Given the description of an element on the screen output the (x, y) to click on. 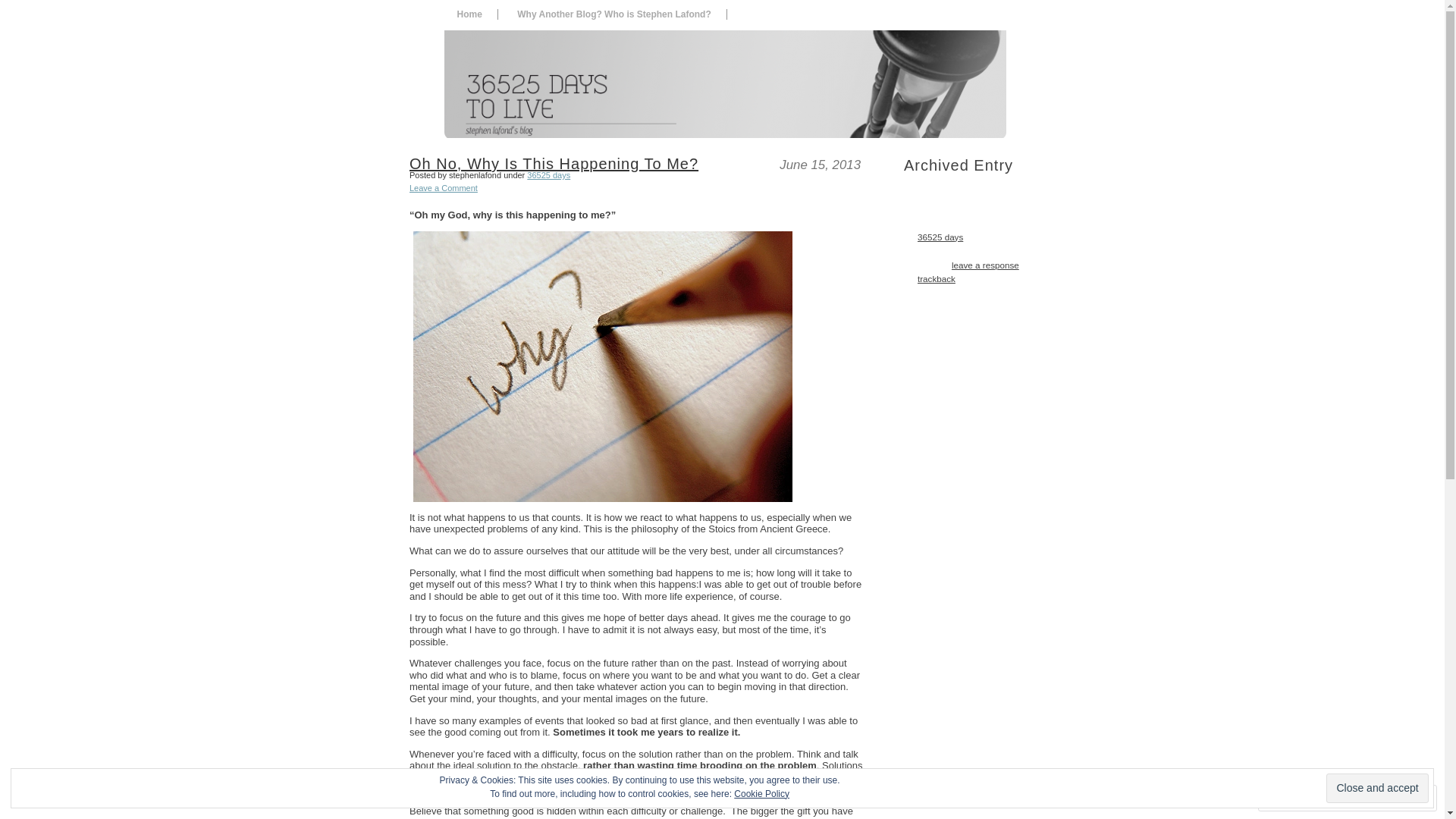
trackback Element type: text (936, 278)
Home Element type: text (468, 14)
Why Another Blog? Who is Stephen Lafond? Element type: text (614, 14)
leave a response Element type: text (985, 264)
Close and accept Element type: text (1376, 788)
Comment Element type: text (1299, 797)
Cookie Policy Element type: text (761, 793)
36525 days Element type: text (548, 174)
Follow Element type: text (1374, 797)
Leave a Comment Element type: text (443, 187)
36525 days Element type: text (940, 236)
